Given the description of an element on the screen output the (x, y) to click on. 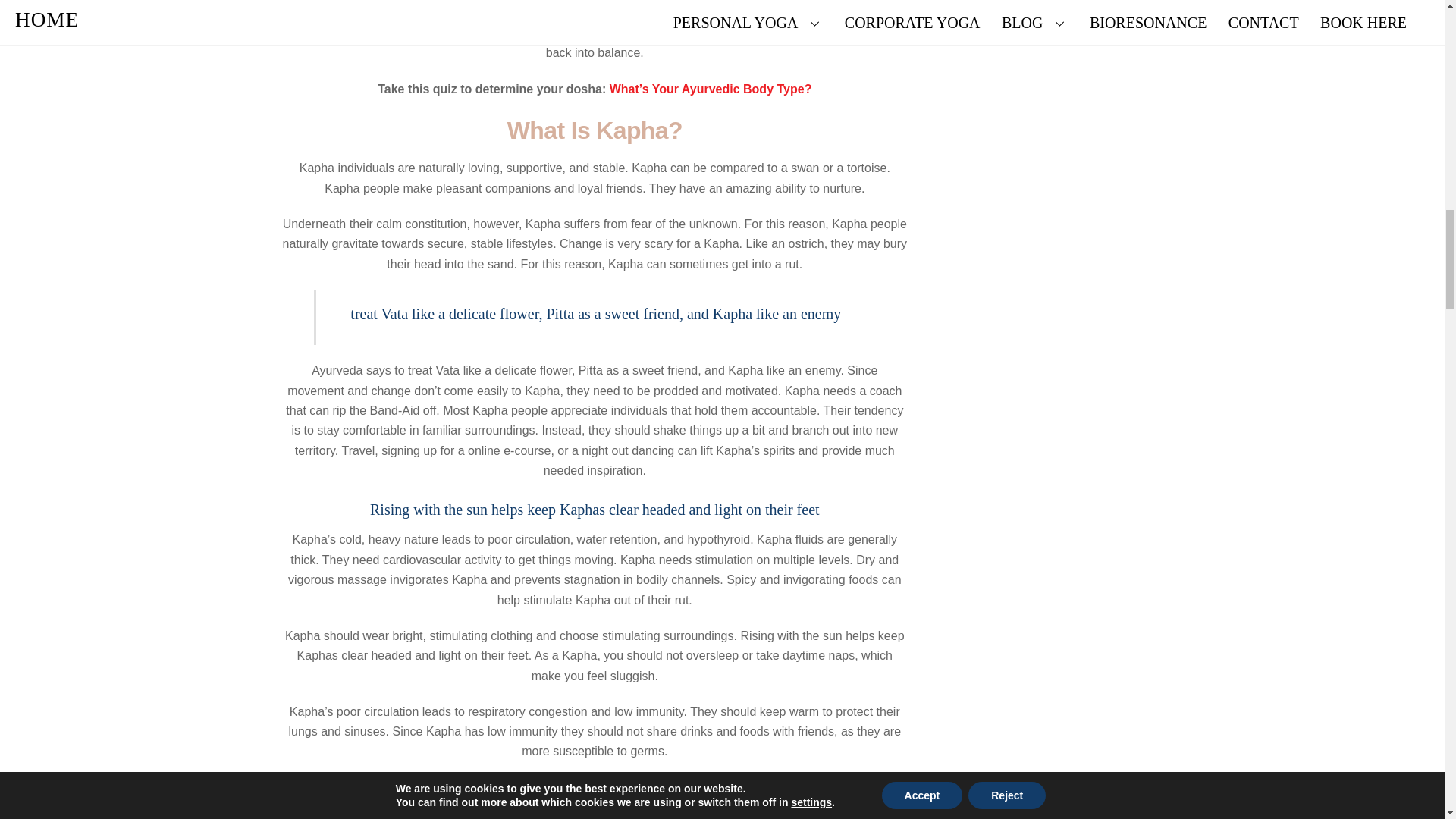
lays out a clear path (502, 32)
